Given the description of an element on the screen output the (x, y) to click on. 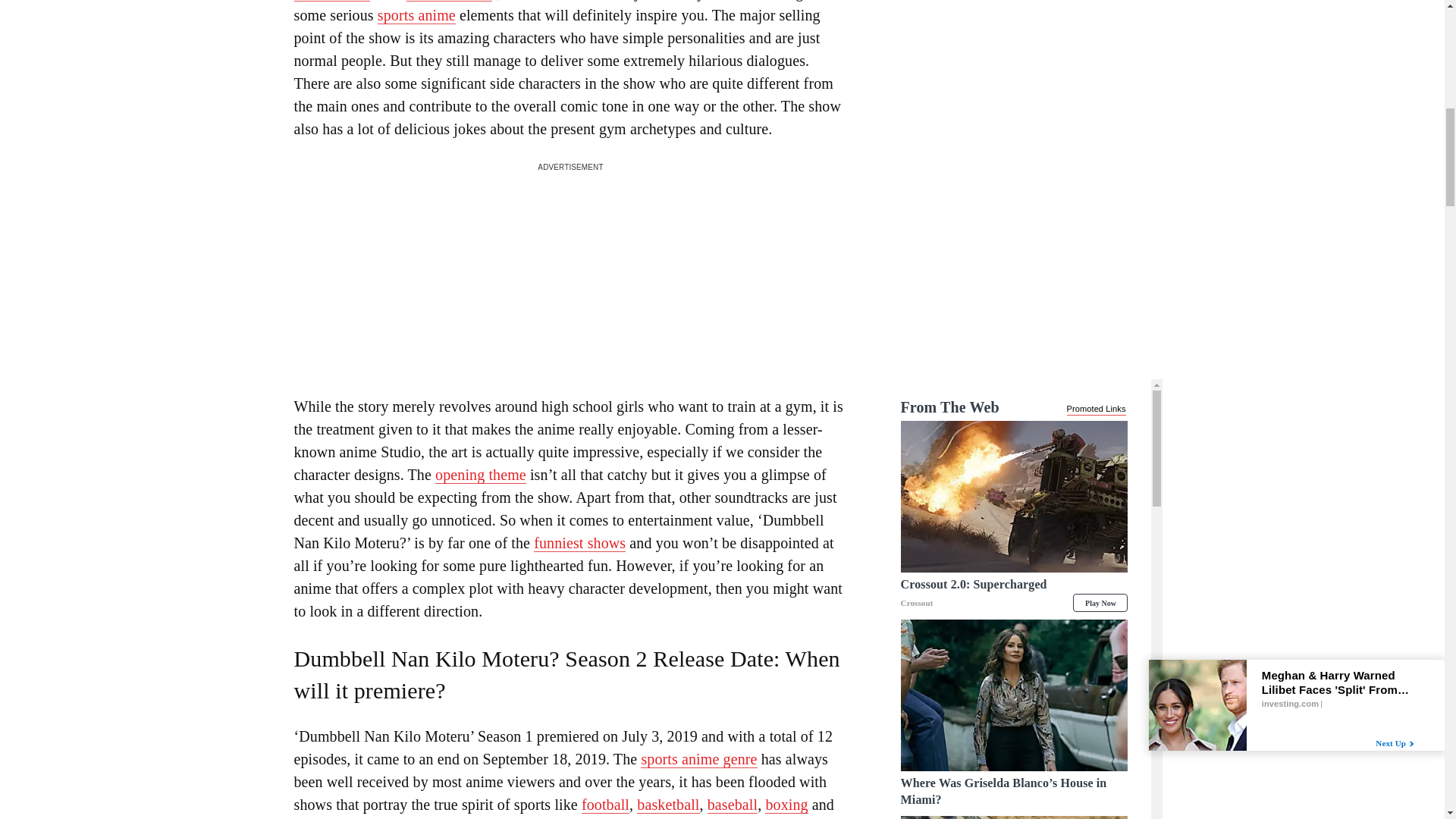
baseball (732, 805)
sports anime genre (698, 759)
funniest shows (580, 543)
sports anime (416, 15)
Prison School (449, 0)
football (604, 805)
opening theme (480, 475)
boxing (786, 805)
basketball (667, 805)
